Given the description of an element on the screen output the (x, y) to click on. 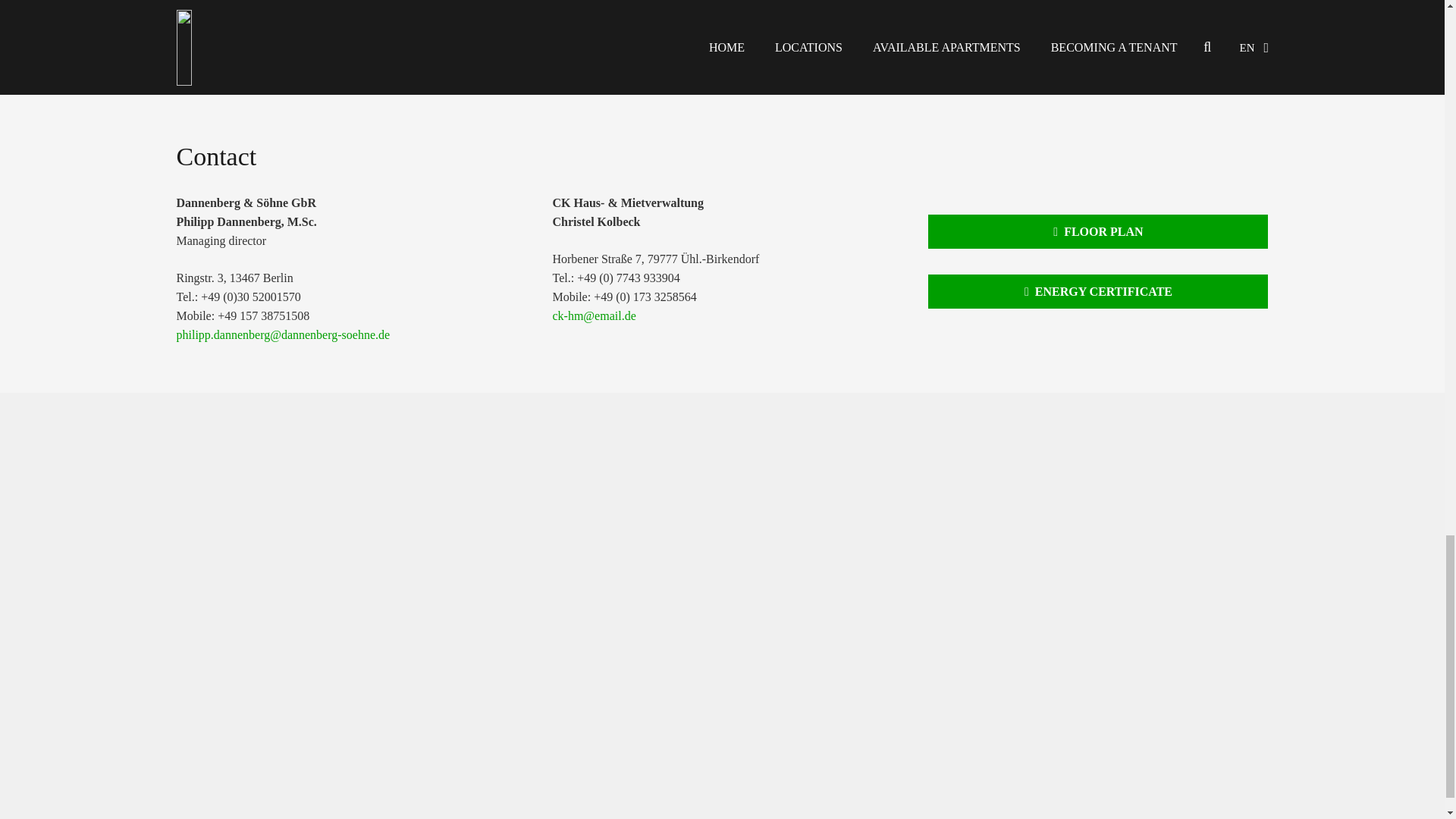
ENERGY CERTIFICATE (1098, 291)
FLOOR PLAN (1098, 231)
